Given the description of an element on the screen output the (x, y) to click on. 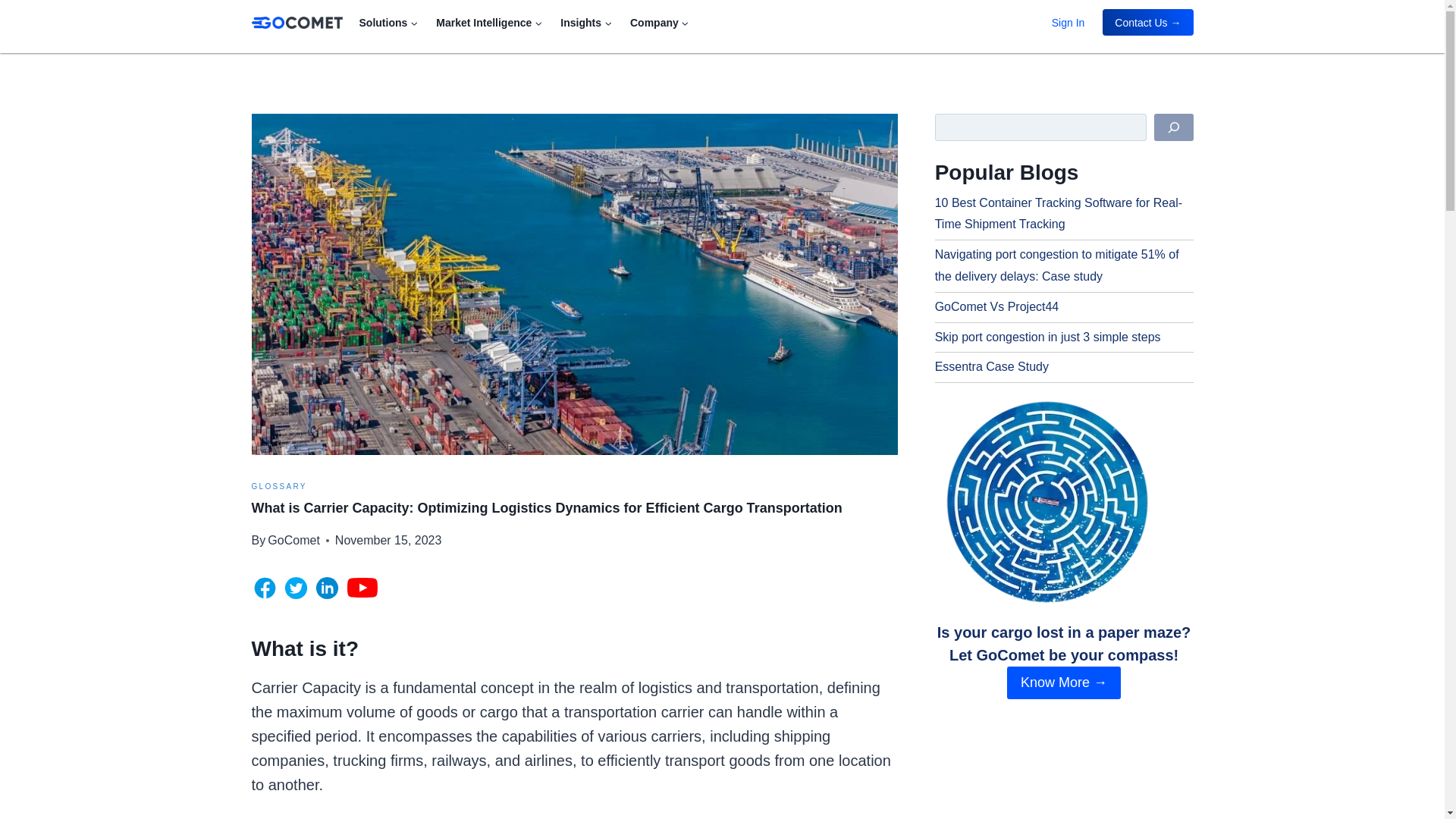
Market Intelligence (488, 21)
Solutions (389, 21)
Insights (586, 21)
